Given the description of an element on the screen output the (x, y) to click on. 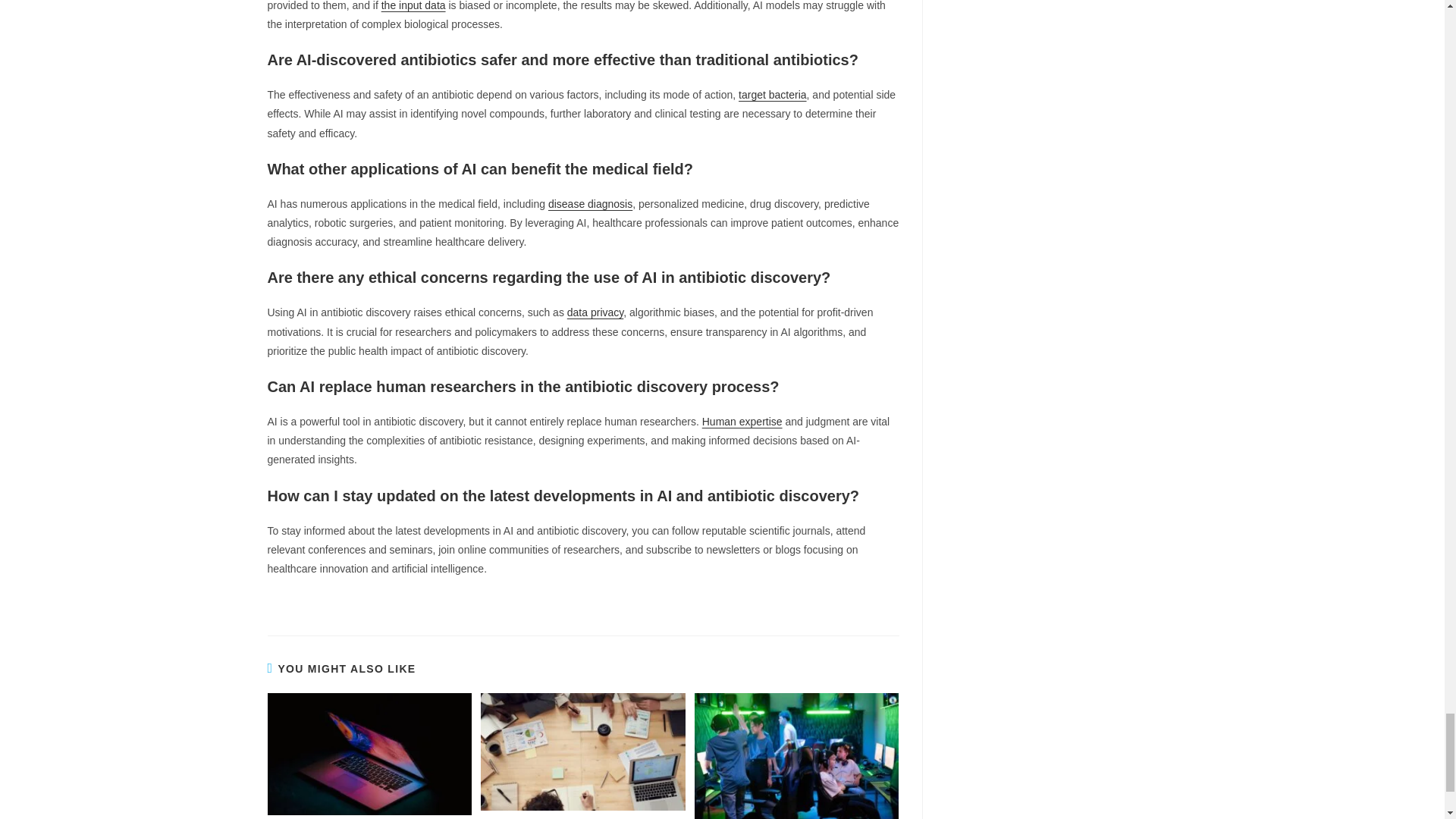
data privacy (595, 312)
the input data (413, 5)
disease diagnosis (589, 203)
Human expertise (742, 421)
target bacteria (772, 94)
